Given the description of an element on the screen output the (x, y) to click on. 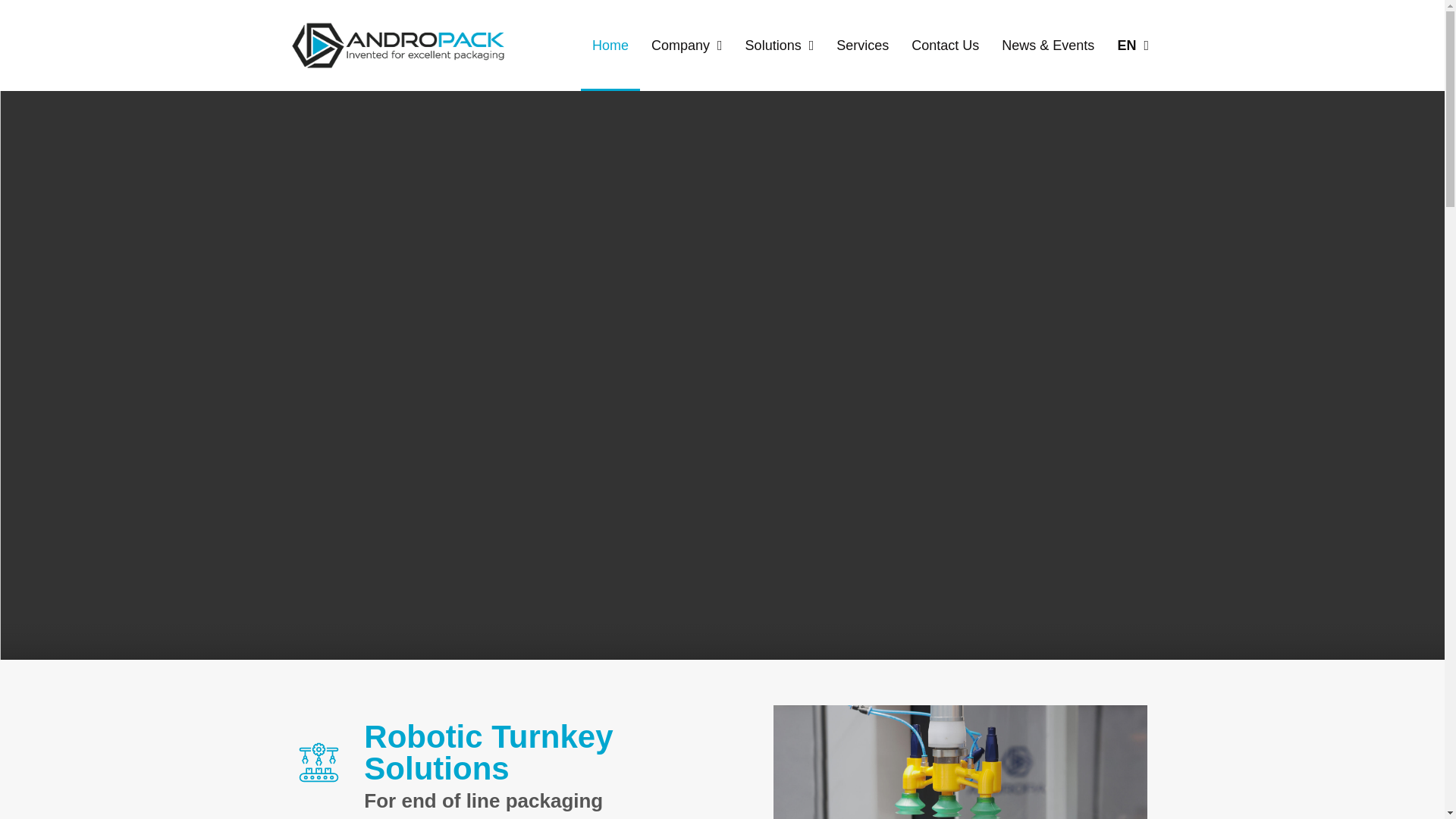
Company (686, 45)
Solutions (779, 45)
Contact Us (944, 45)
